Given the description of an element on the screen output the (x, y) to click on. 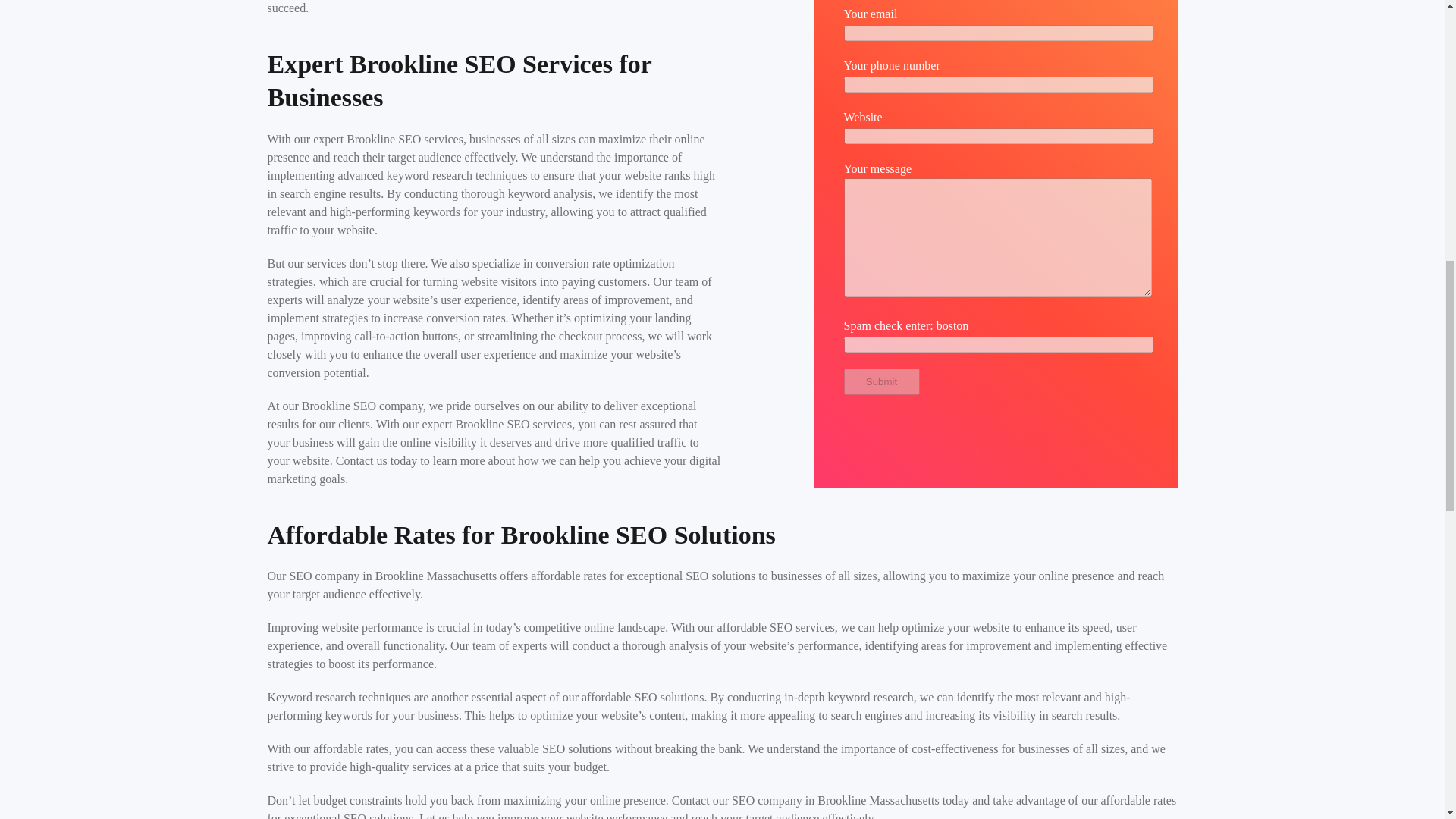
Submit (880, 381)
Submit (880, 381)
